Given the description of an element on the screen output the (x, y) to click on. 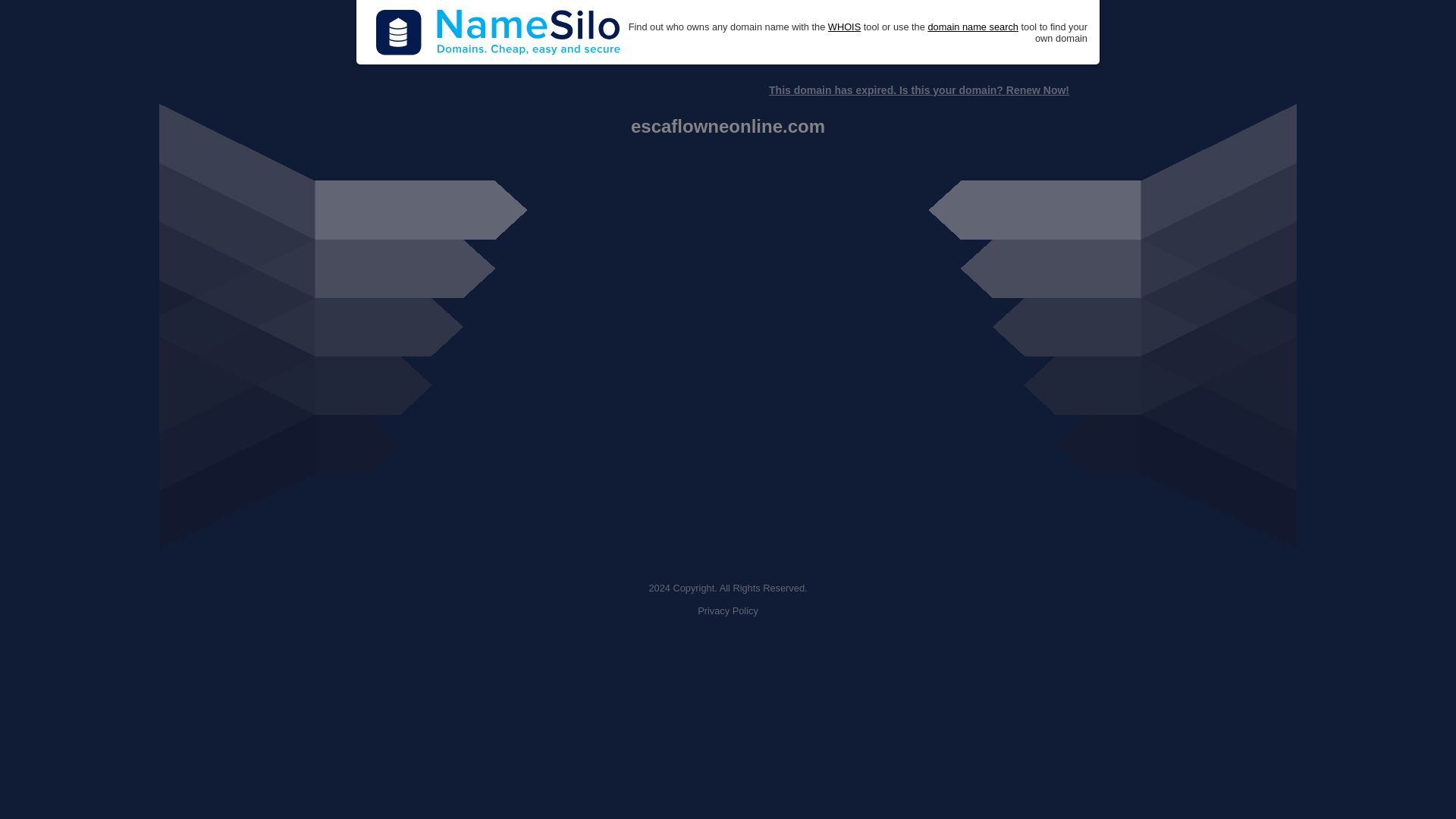
This domain has expired. Is this your domain? Renew Now! (918, 90)
WHOIS (844, 26)
domain name search (972, 26)
Privacy Policy (727, 610)
